Given the description of an element on the screen output the (x, y) to click on. 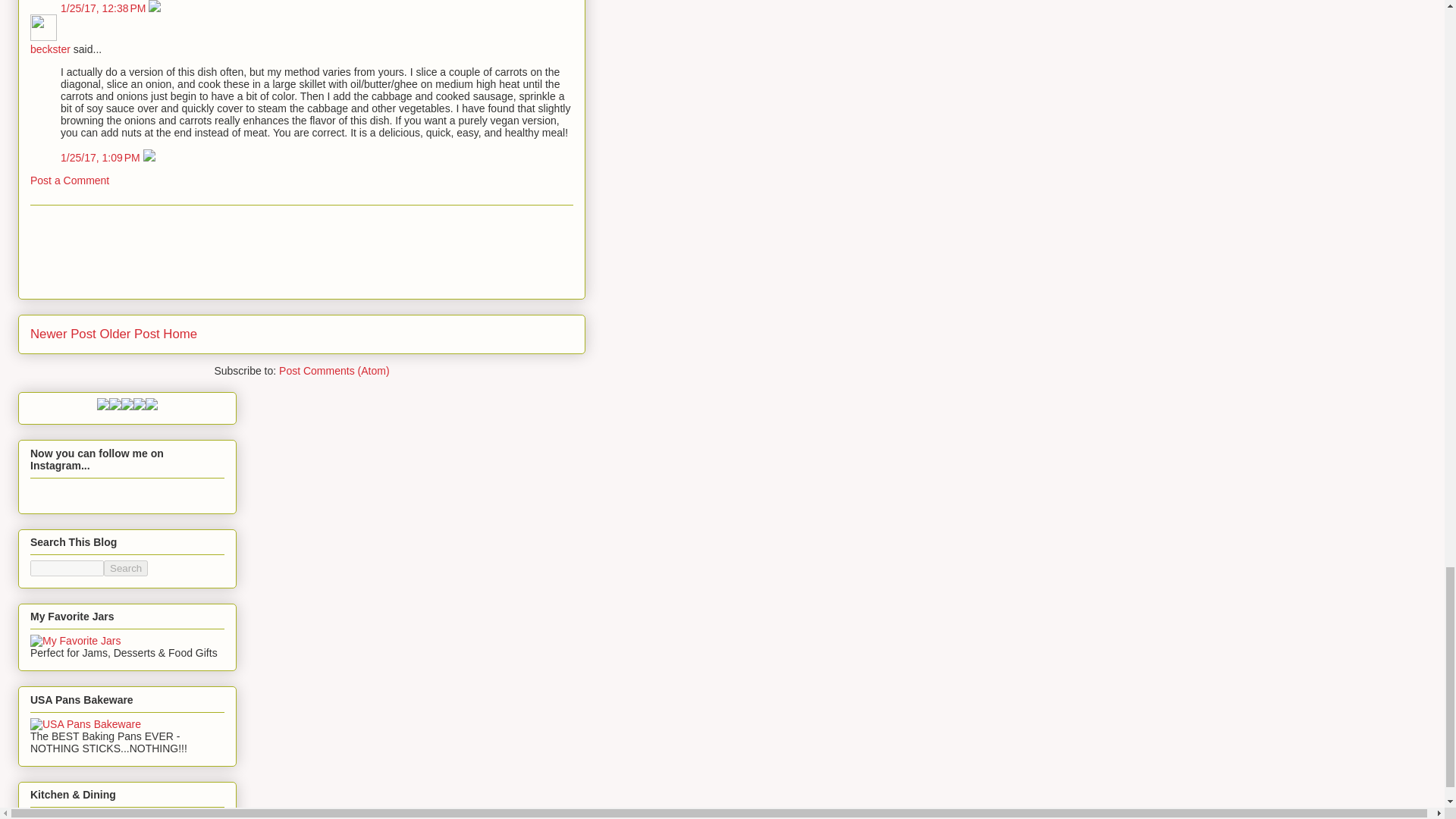
Newer Post (63, 333)
Search (125, 568)
Delete Comment (154, 8)
Delete Comment (148, 157)
Older Post (128, 333)
beckster (49, 49)
Search (125, 568)
comment permalink (101, 157)
beckster (43, 27)
Post a Comment (69, 180)
